Given the description of an element on the screen output the (x, y) to click on. 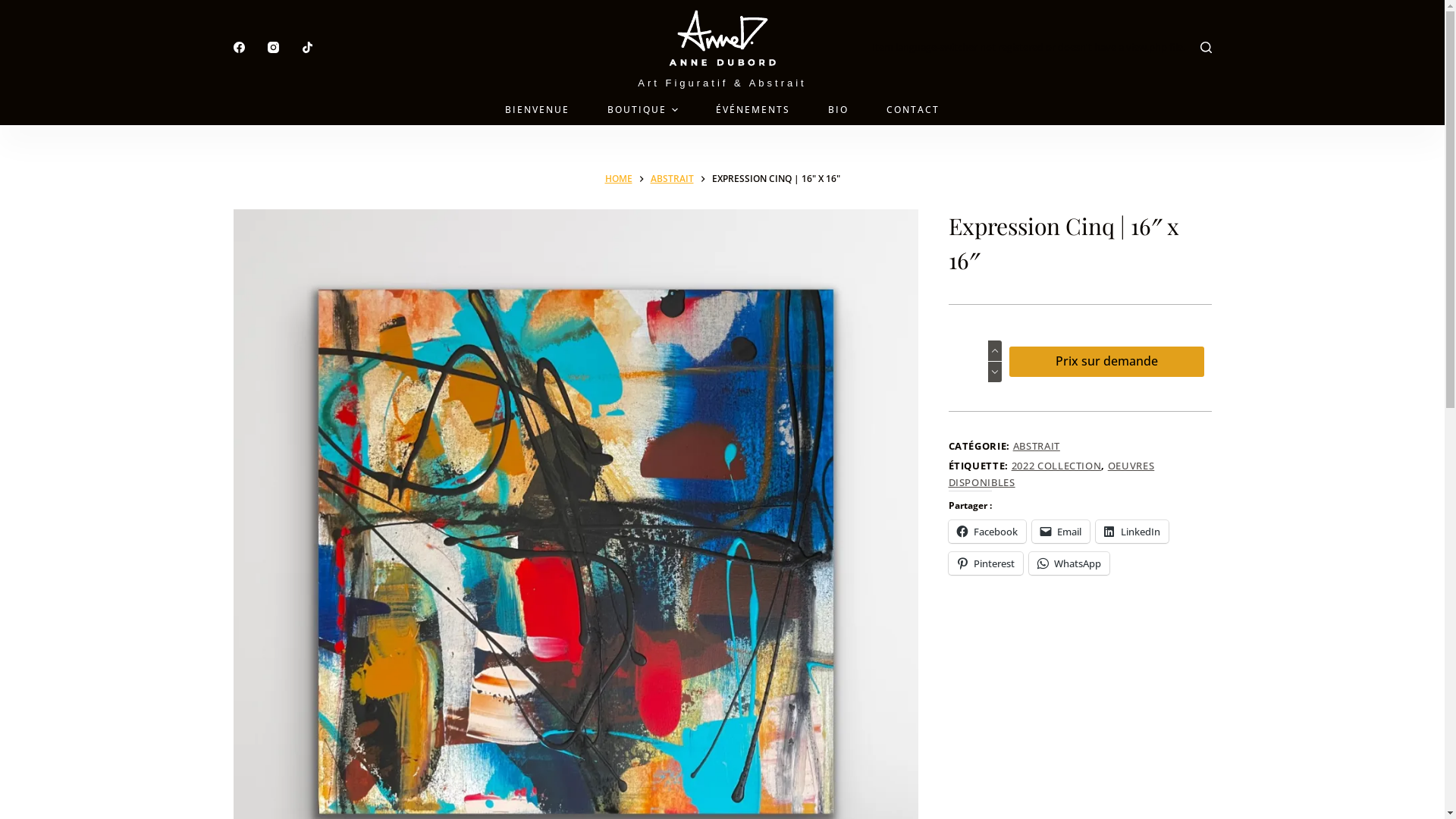
Prix sur demande Element type: text (1106, 361)
BIENVENUE Element type: text (537, 109)
BOUTIQUE Element type: text (642, 109)
2022 COLLECTION Element type: text (1056, 465)
Email Element type: text (1059, 531)
CONTACT Element type: text (912, 109)
OEUVRES DISPONIBLES Element type: text (1050, 473)
HOME Element type: text (618, 178)
BIO Element type: text (838, 109)
Skip to content Element type: text (15, 7)
ABSTRAIT Element type: text (671, 178)
WhatsApp Element type: text (1068, 563)
Facebook Element type: text (986, 531)
ABSTRAIT Element type: text (1036, 445)
LinkedIn Element type: text (1131, 531)
Pinterest Element type: text (984, 563)
